Given the description of an element on the screen output the (x, y) to click on. 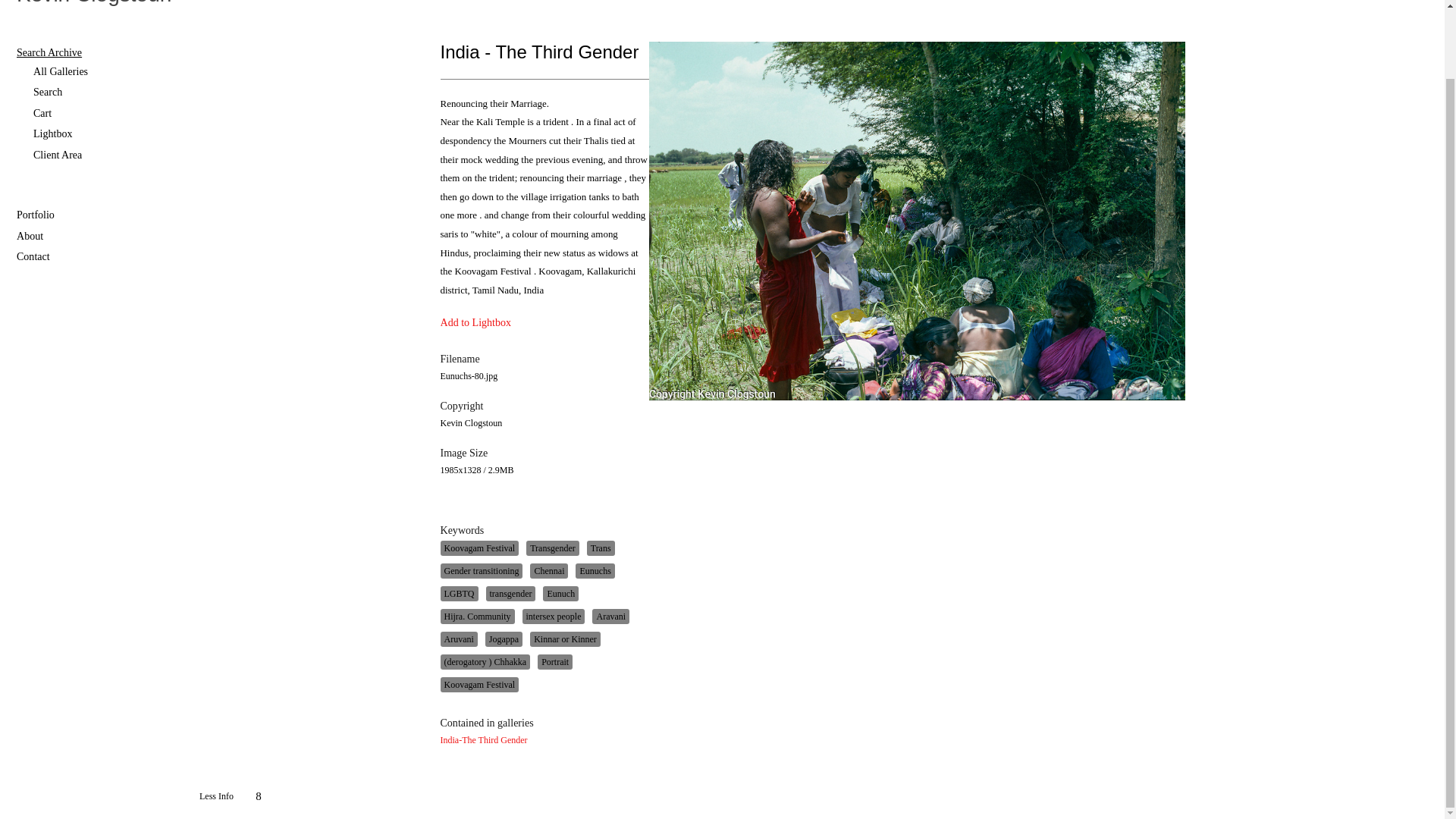
Aravani (610, 616)
All Galleries (106, 71)
Gender transitioning (480, 570)
Eunuch (560, 593)
Search (106, 92)
LGBTQ (458, 593)
Jogappa (503, 639)
Eunuchs (594, 570)
Client Area (106, 155)
Chennai (548, 570)
Portrait (554, 661)
Portfolio (98, 214)
intersex people (553, 616)
Hijra. Community (476, 616)
About (98, 236)
